Given the description of an element on the screen output the (x, y) to click on. 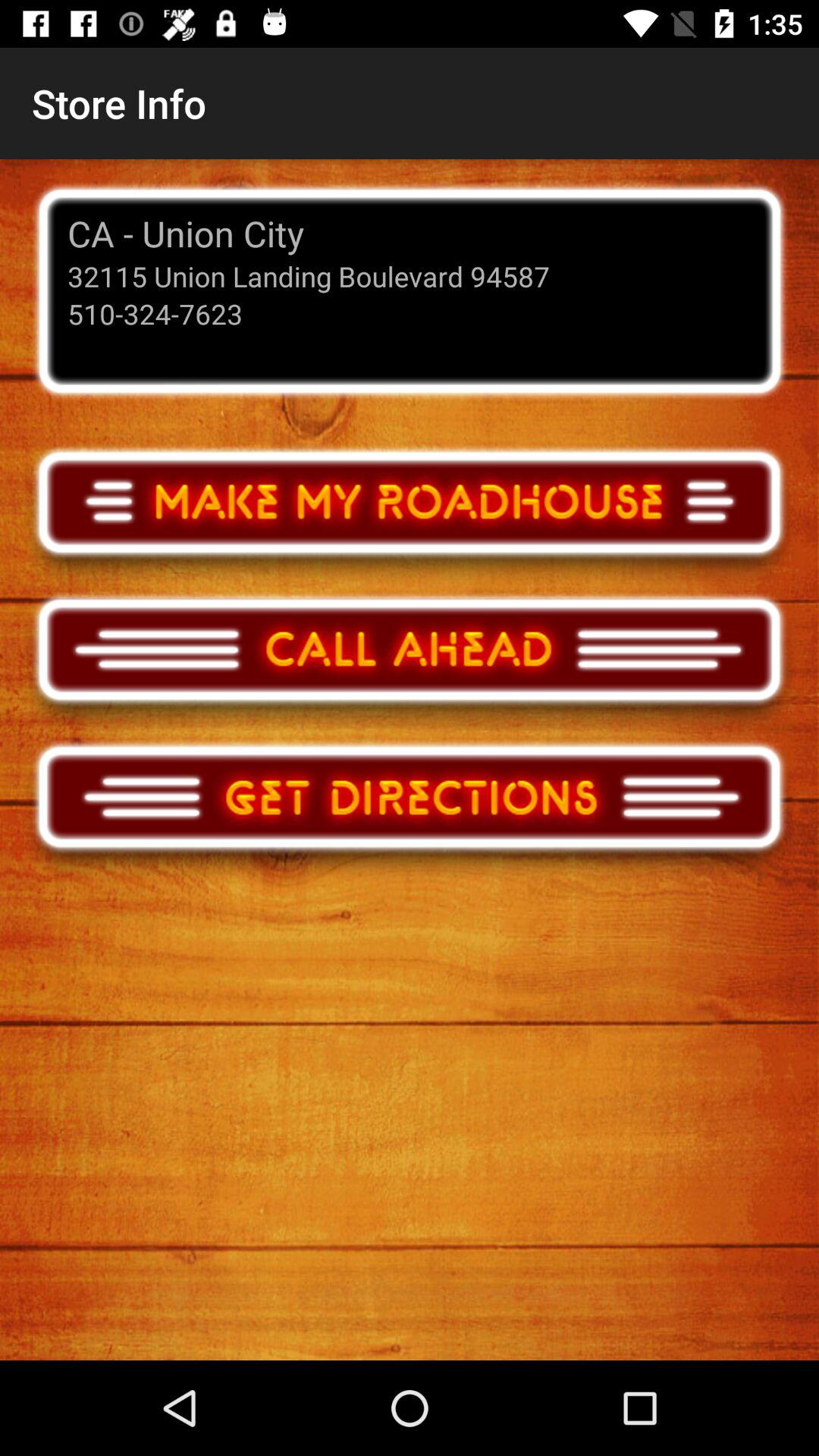
call the business (409, 663)
